Given the description of an element on the screen output the (x, y) to click on. 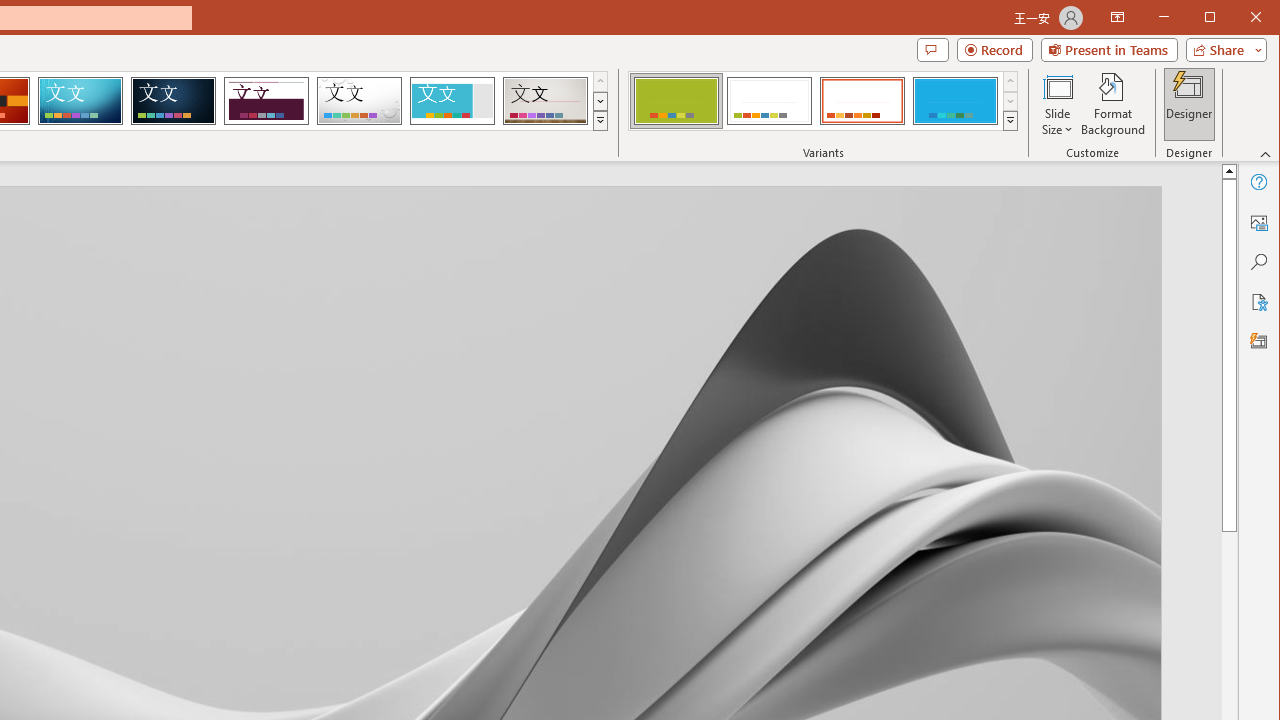
Basis Variant 1 (676, 100)
Format Background (1113, 104)
Damask (173, 100)
Dividend (266, 100)
Basis Variant 2 (769, 100)
